Given the description of an element on the screen output the (x, y) to click on. 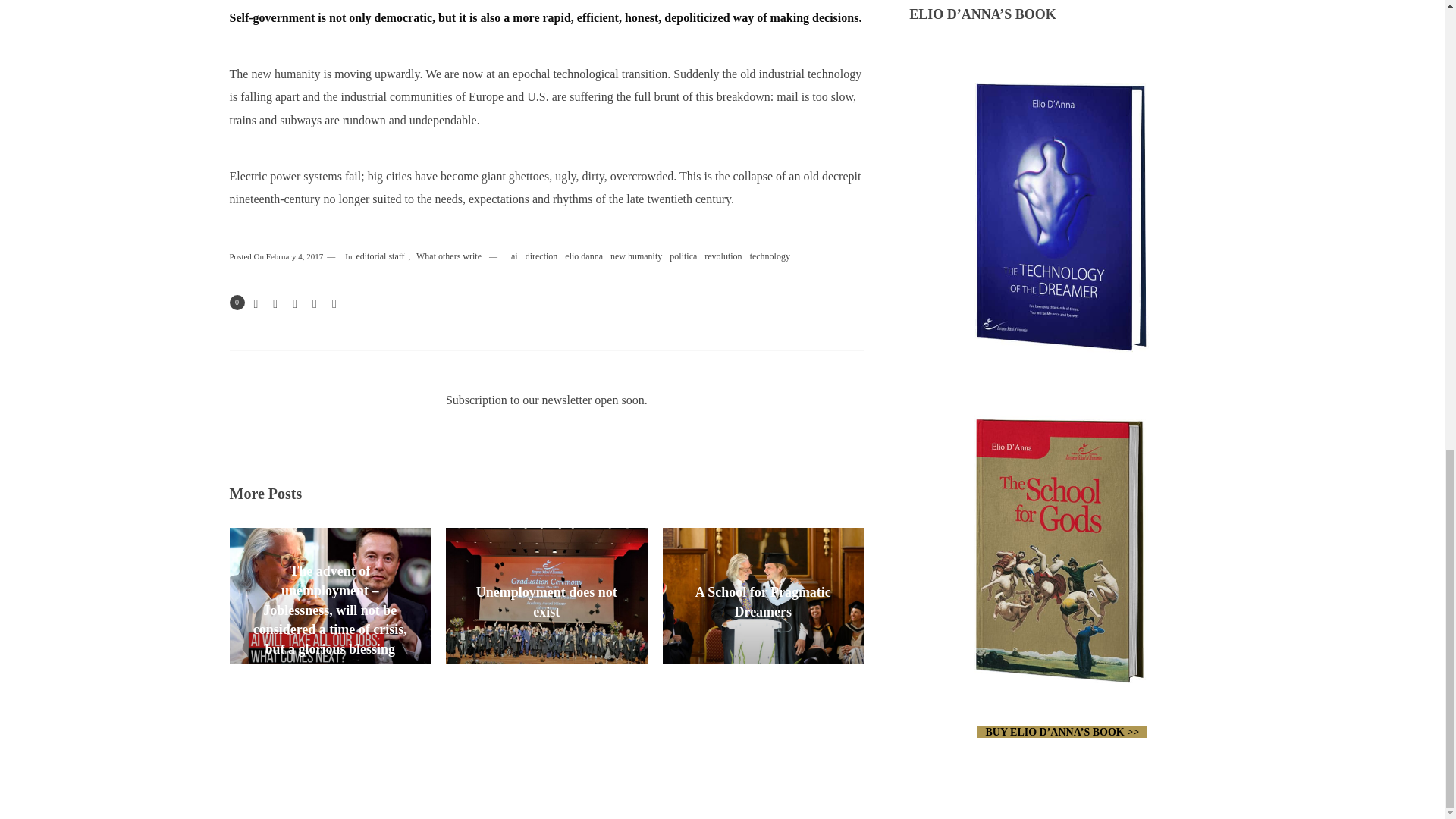
new humanity (636, 257)
politica (682, 257)
What others write (448, 257)
direction (541, 257)
Shared 0  times (236, 302)
revolution (722, 257)
editorial staff (379, 257)
elio danna (583, 257)
technology (769, 257)
